Given the description of an element on the screen output the (x, y) to click on. 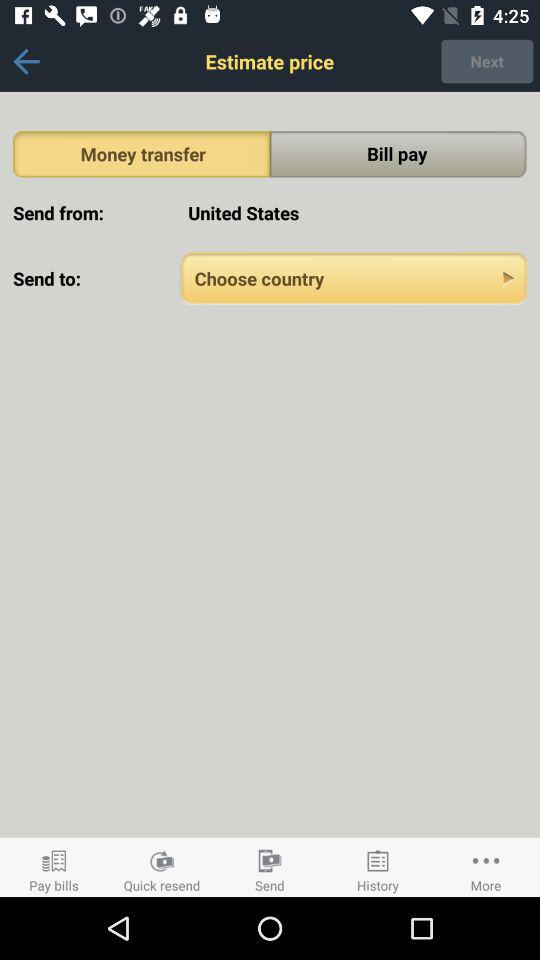
choose the bill pay icon (398, 154)
